Given the description of an element on the screen output the (x, y) to click on. 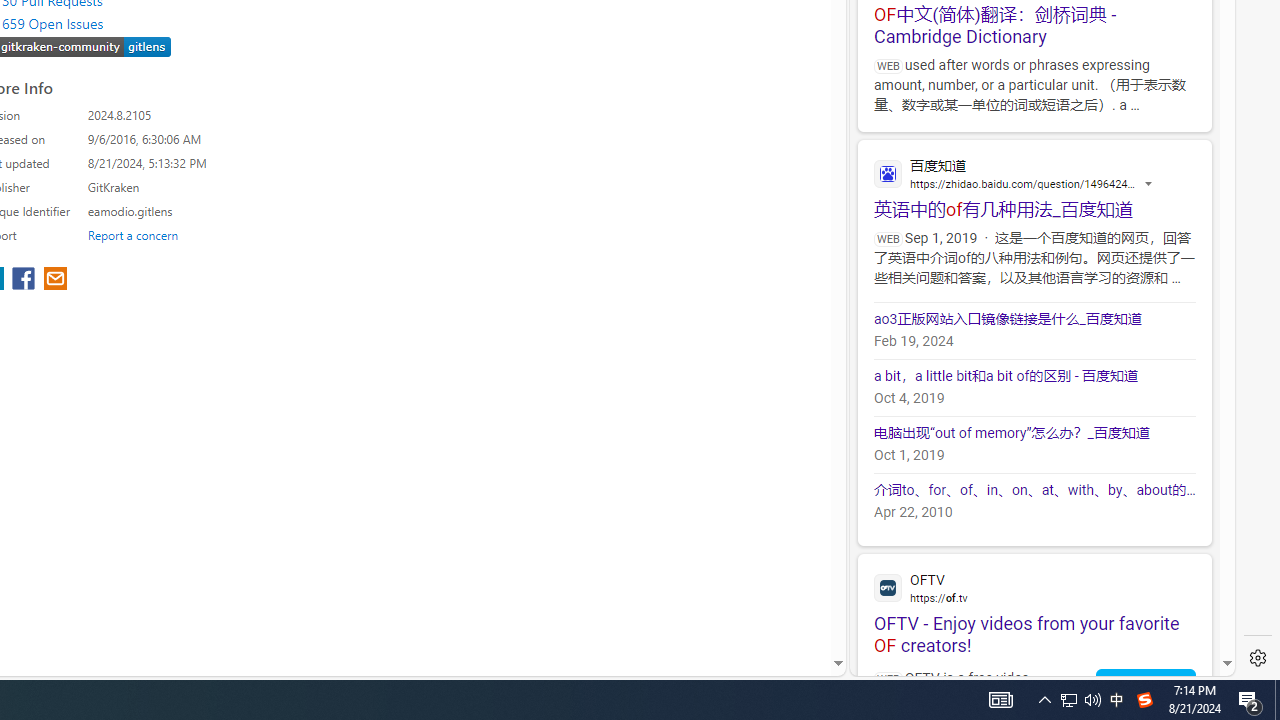
OFTV (1034, 587)
Actions for this site (1149, 184)
Report a concern (133, 234)
OFTV - Enjoy videos from your favorite OF creators! (1034, 604)
Global web icon (888, 587)
share extension on email (54, 280)
share extension on facebook (26, 280)
